Given the description of an element on the screen output the (x, y) to click on. 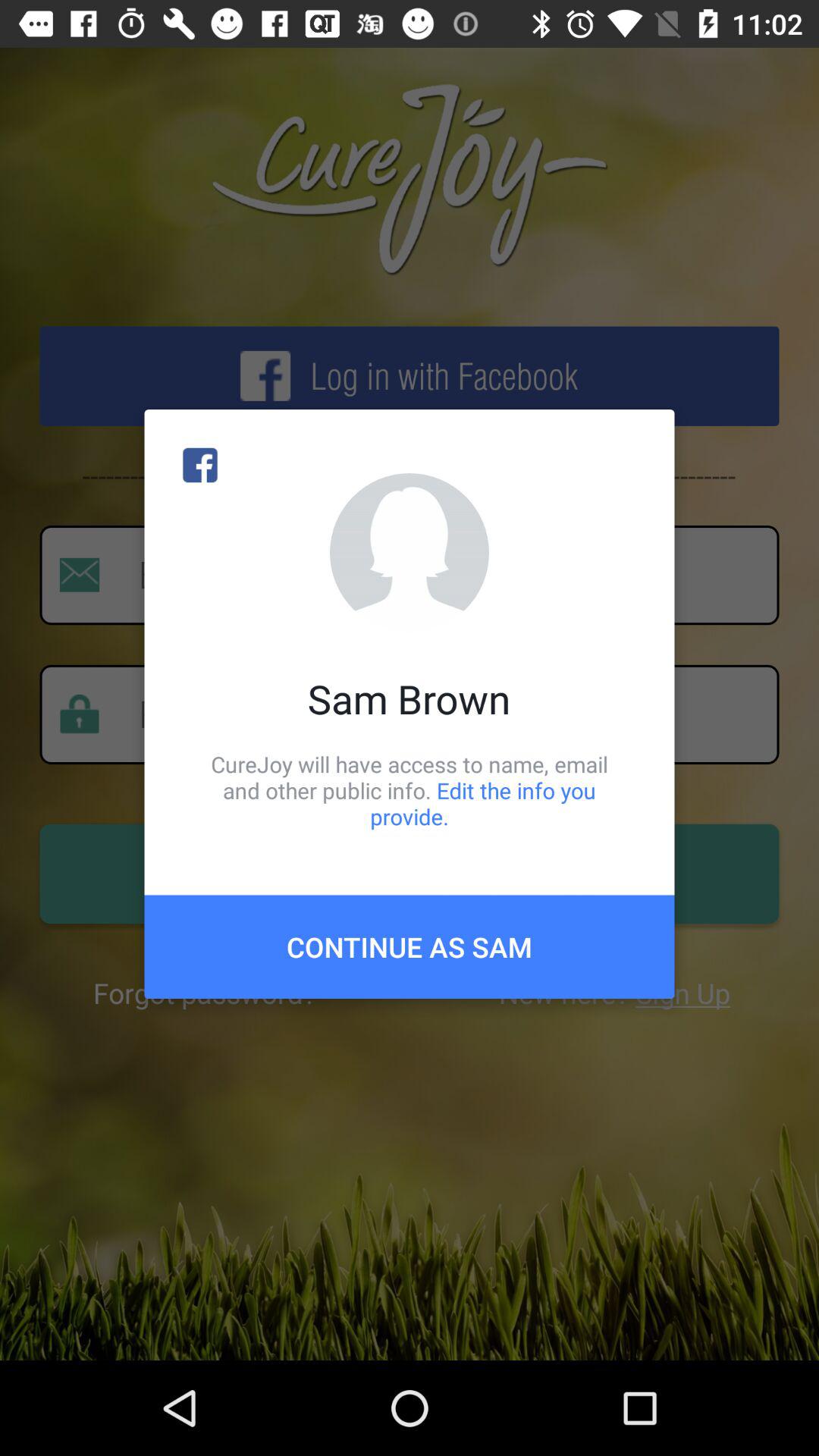
swipe until curejoy will have icon (409, 790)
